Given the description of an element on the screen output the (x, y) to click on. 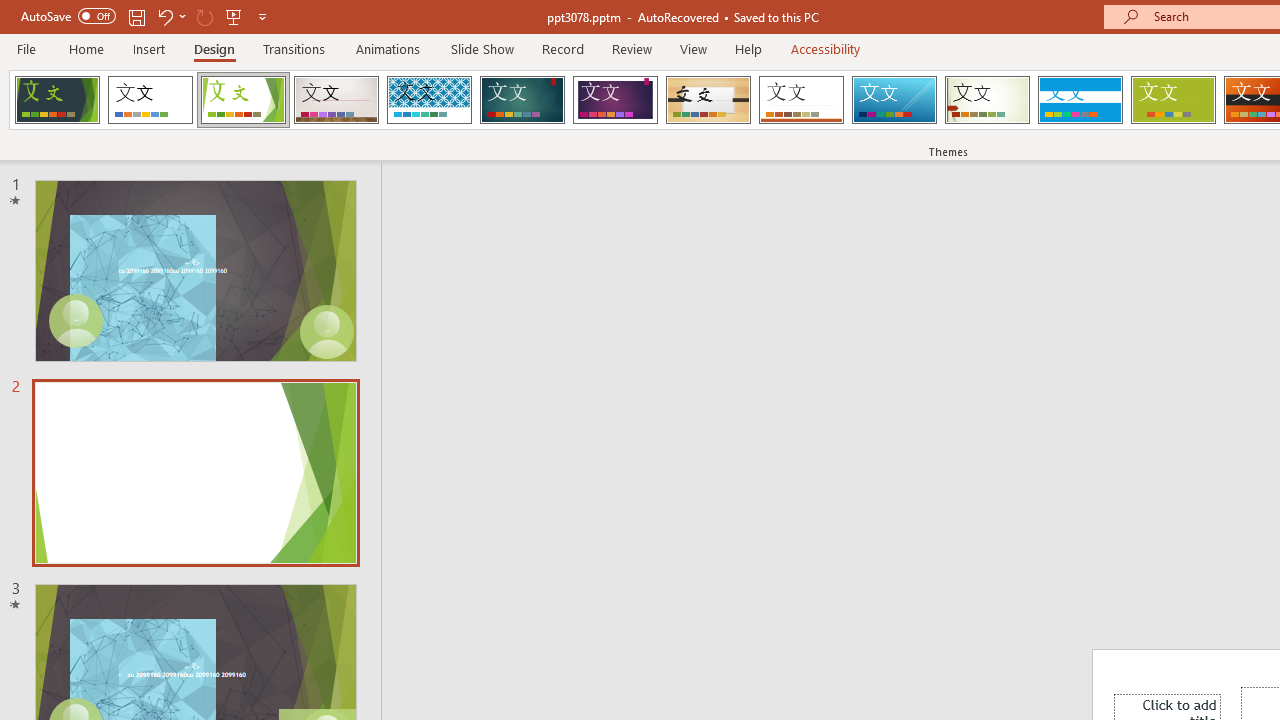
Office Theme (150, 100)
Facet (243, 100)
Wisp (987, 100)
Banded (1080, 100)
Ion Boardroom (615, 100)
